Given the description of an element on the screen output the (x, y) to click on. 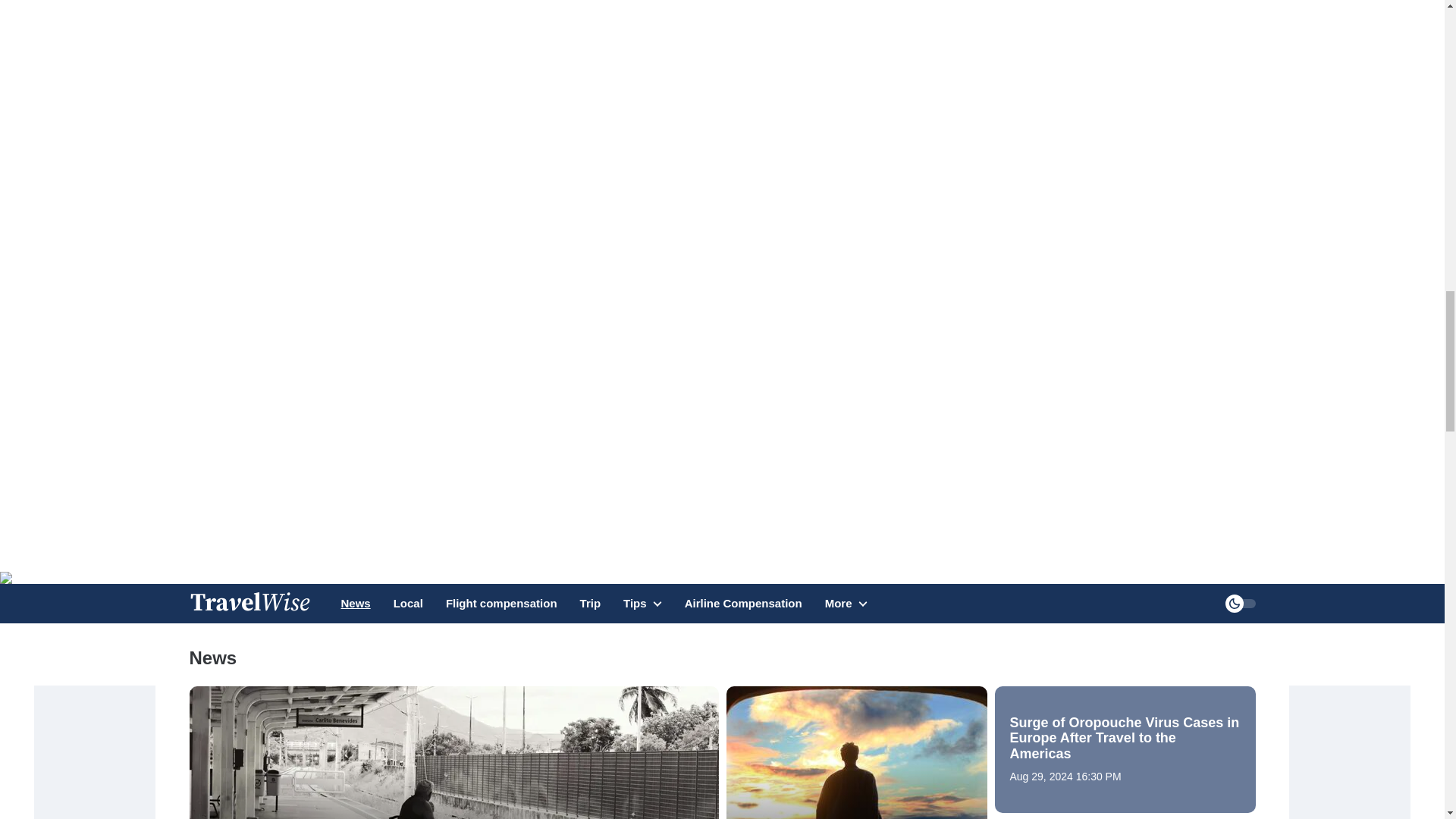
News (355, 603)
Trip (590, 603)
Local (408, 603)
Tips (642, 611)
Airline Compensation (743, 603)
Flight compensation (501, 603)
